Given the description of an element on the screen output the (x, y) to click on. 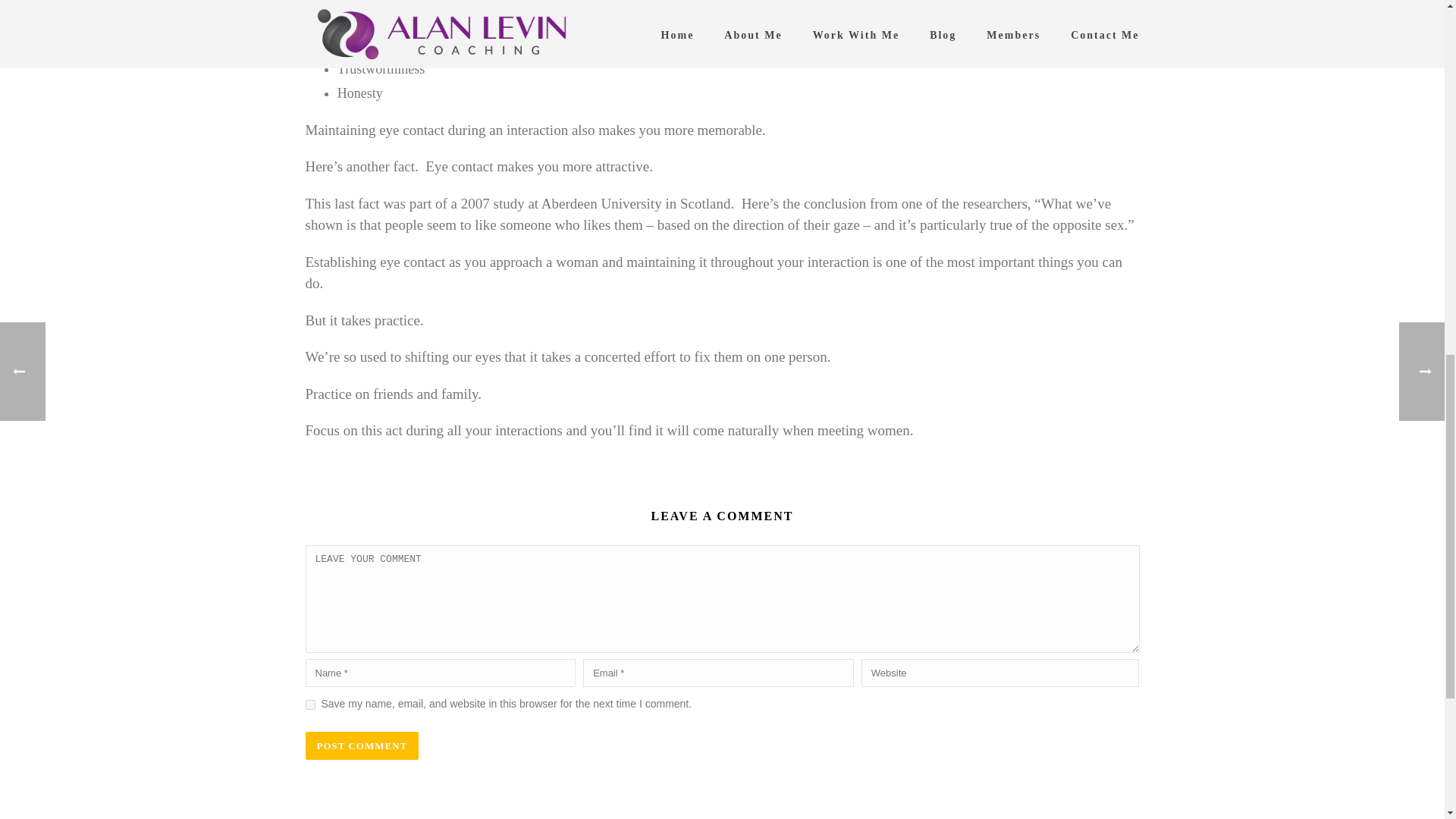
POST COMMENT (361, 746)
yes (309, 705)
POST COMMENT (361, 746)
